Given the description of an element on the screen output the (x, y) to click on. 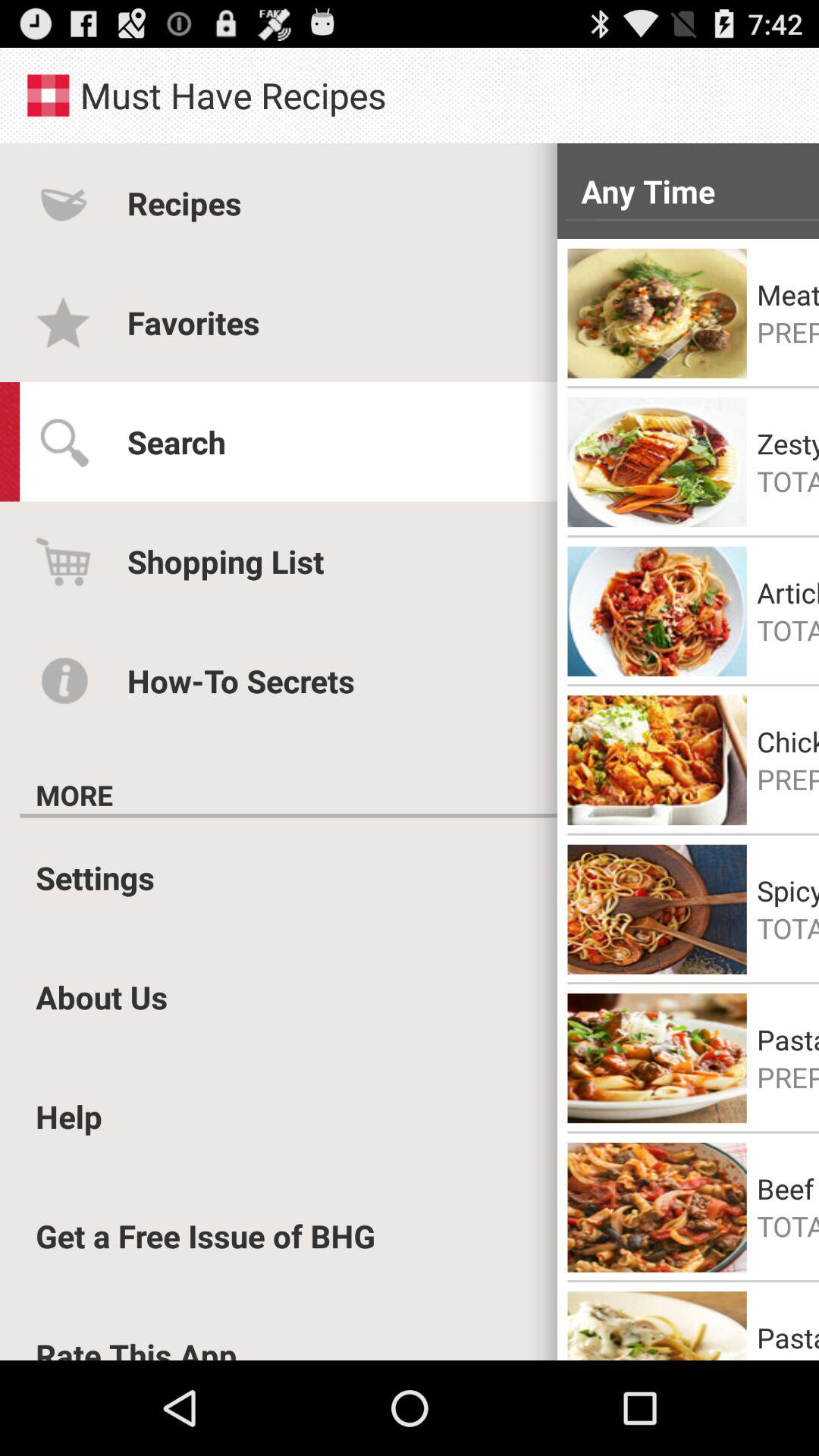
select more (74, 794)
